Given the description of an element on the screen output the (x, y) to click on. 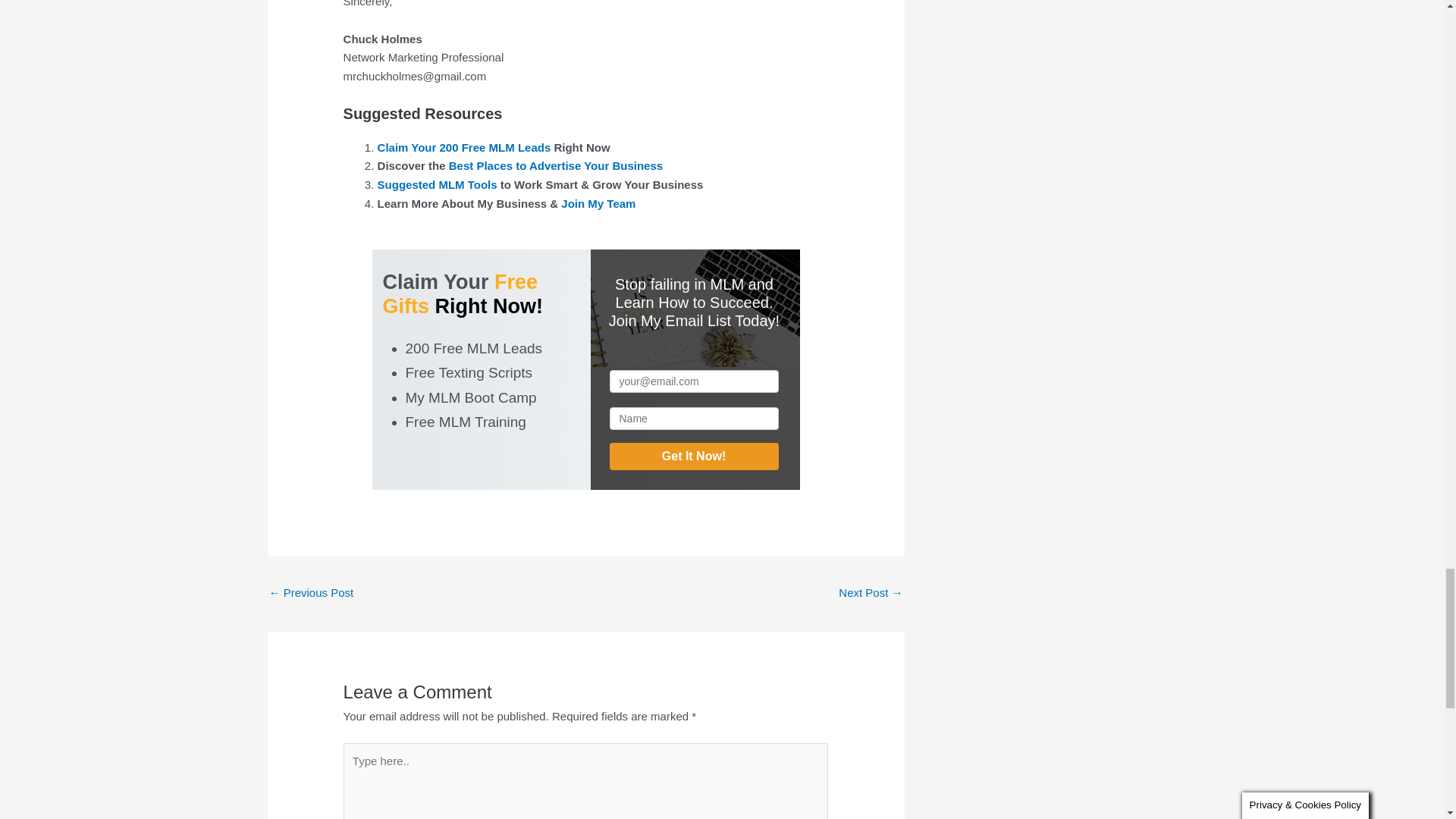
Your MLM Bonus Check: 6 Things You Could Do with It (870, 593)
Top 19 MLM Tidbits (310, 593)
